Given the description of an element on the screen output the (x, y) to click on. 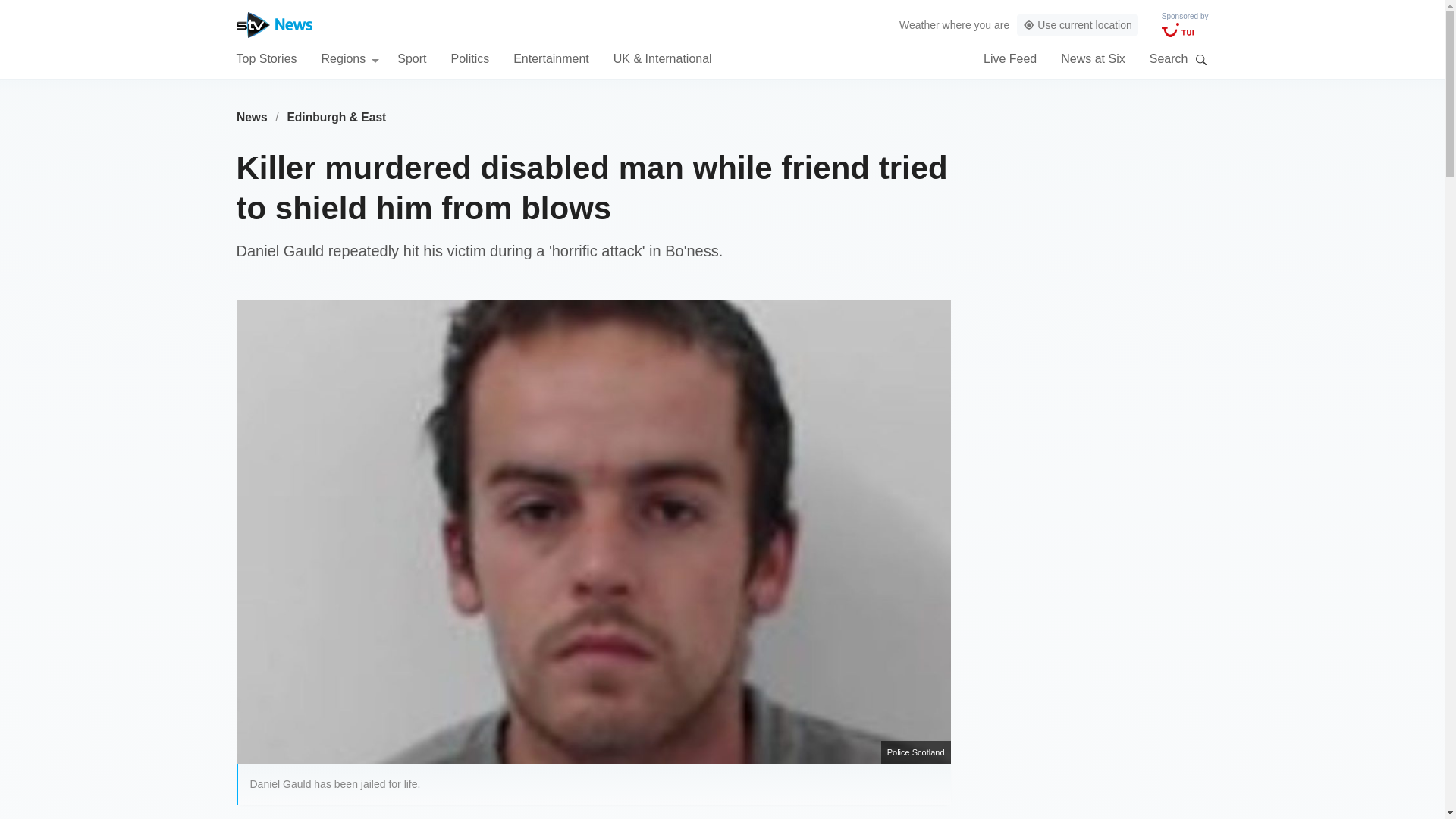
Weather (919, 24)
Politics (469, 57)
Live Feed (1010, 57)
Search (1201, 59)
News (252, 116)
News at Six (1092, 57)
Top Stories (266, 57)
Use current location (1077, 25)
Regions (350, 57)
Entertainment (551, 57)
